Given the description of an element on the screen output the (x, y) to click on. 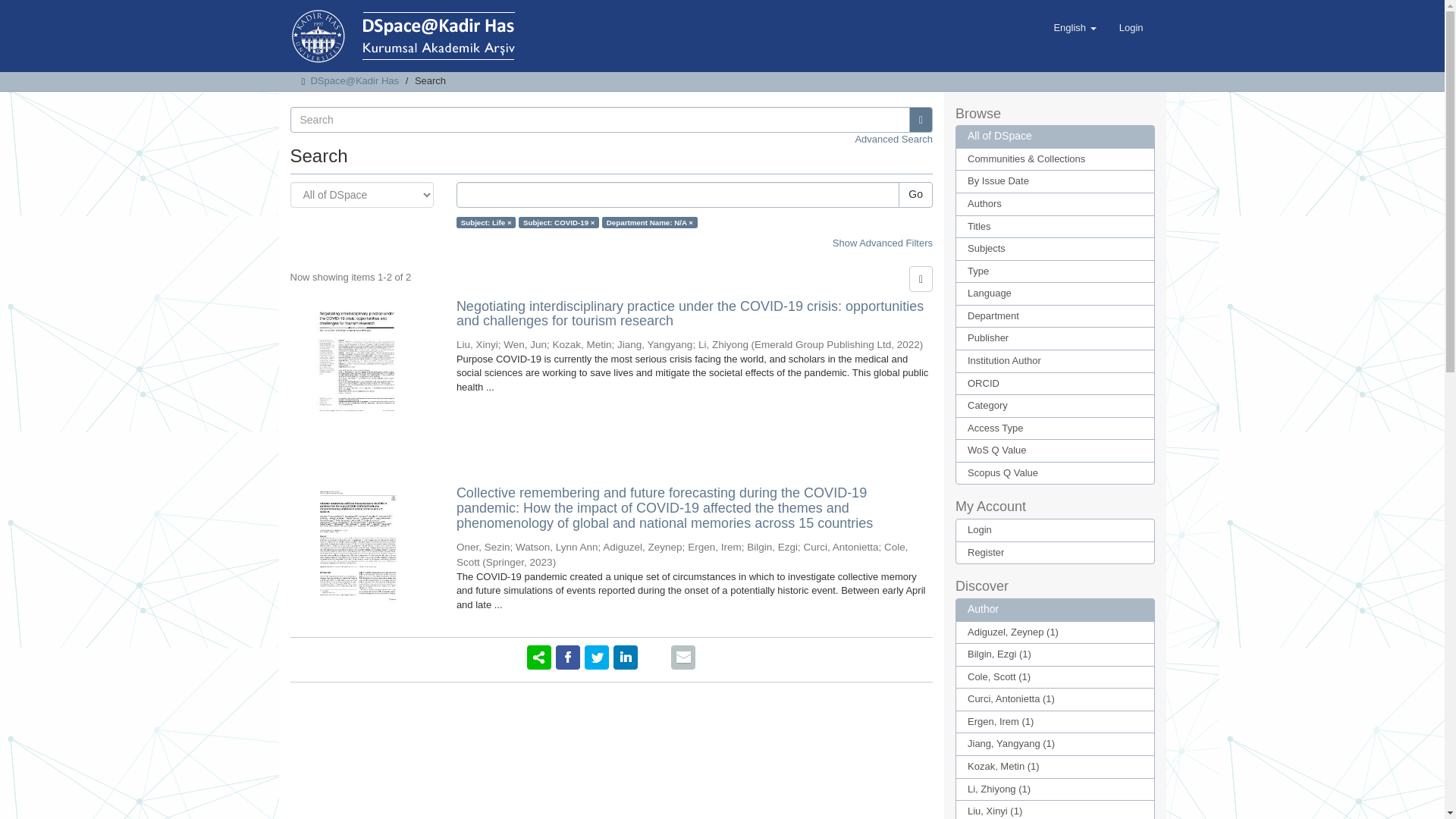
Advanced Search (893, 138)
Login (1131, 27)
English  (1074, 27)
Go (915, 194)
Go (920, 119)
Show Advanced Filters (882, 242)
